Given the description of an element on the screen output the (x, y) to click on. 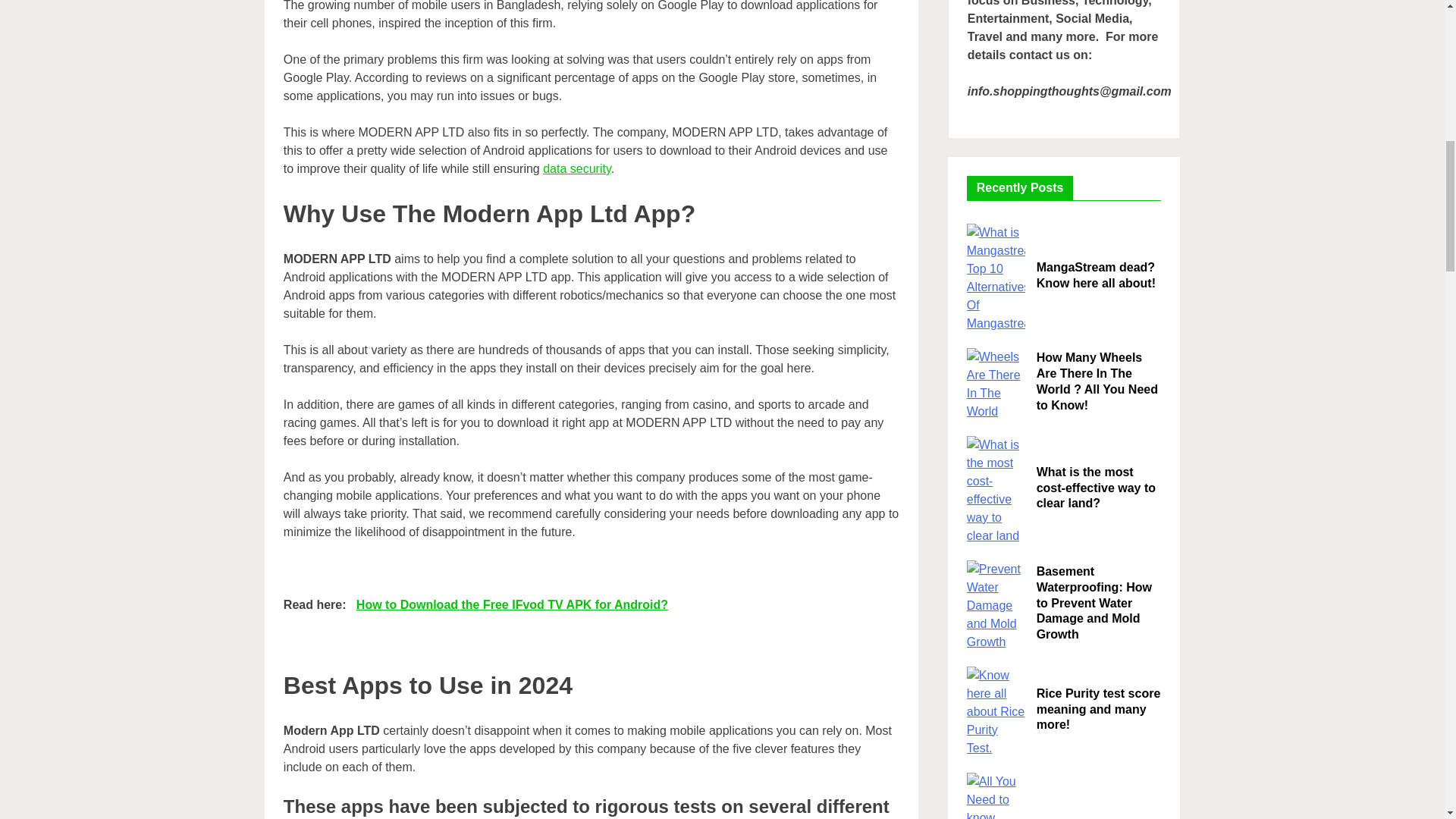
How to Download the Free IFvod TV APK for Android? (512, 604)
data security (577, 168)
